Given the description of an element on the screen output the (x, y) to click on. 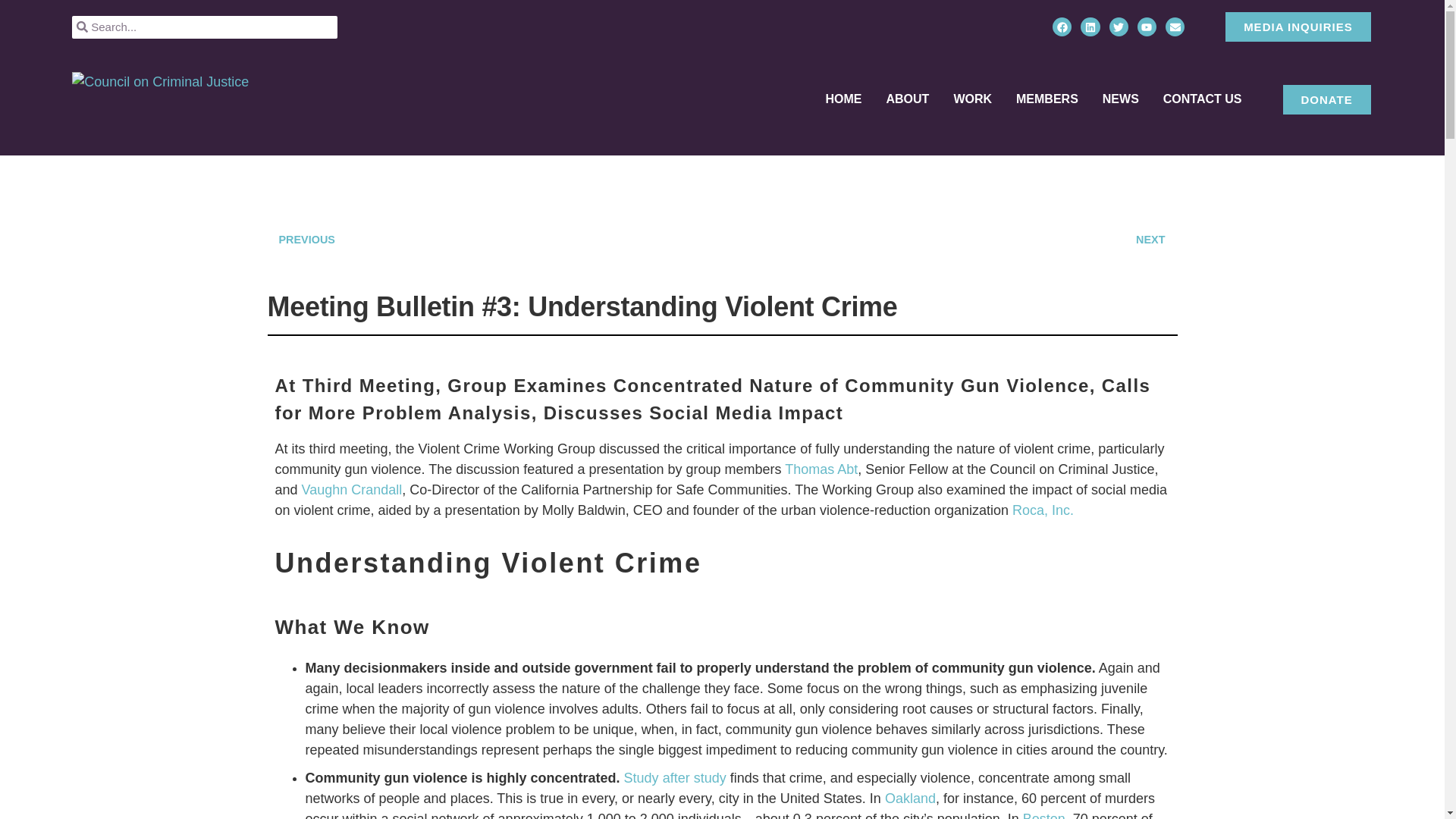
MEDIA INQUIRIES (1298, 26)
CONTACT US (1202, 98)
HOME (843, 98)
ABOUT (906, 98)
NEWS (1120, 98)
MEMBERS (1047, 98)
WORK (972, 98)
